Given the description of an element on the screen output the (x, y) to click on. 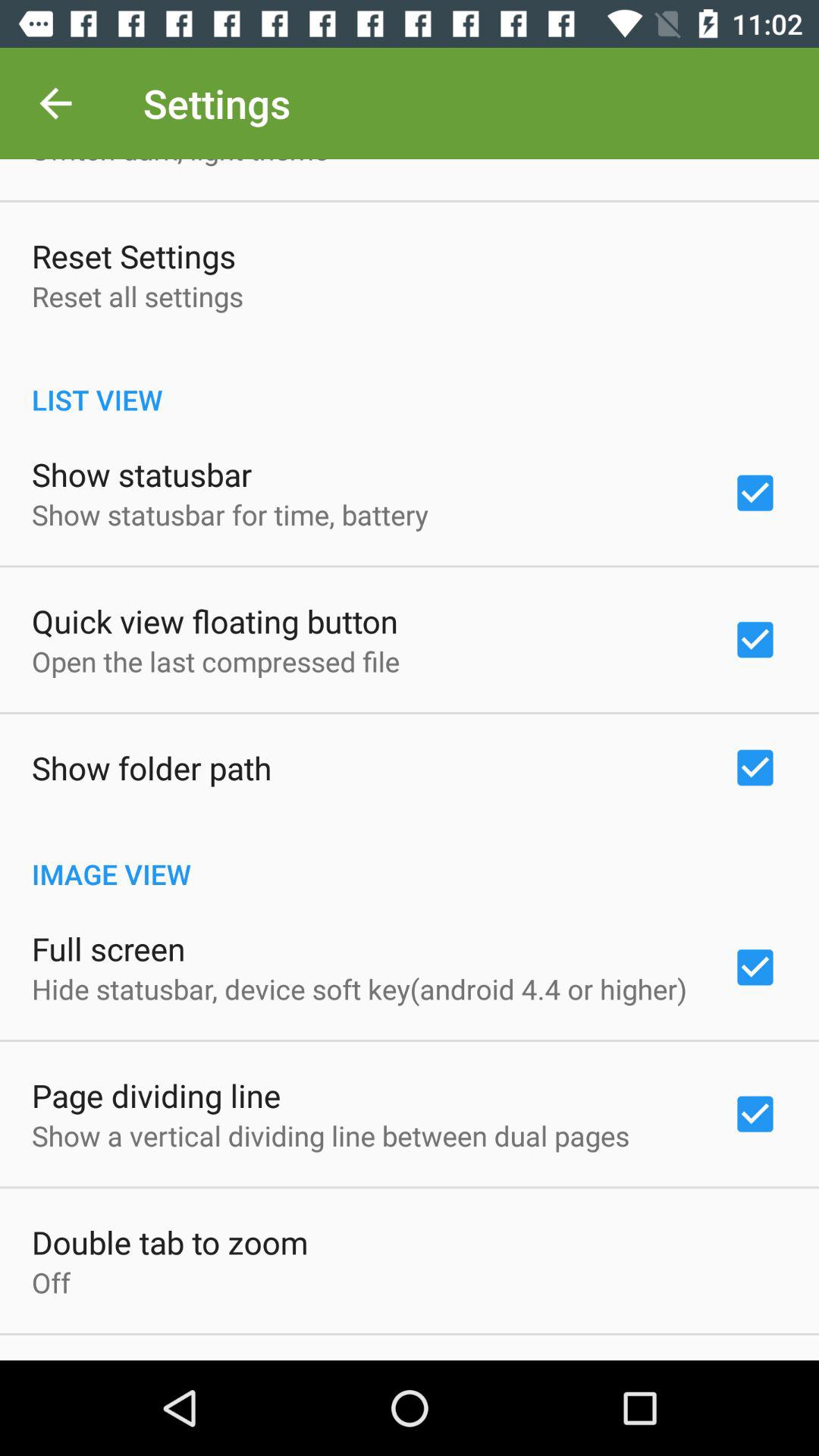
scroll until off (50, 1282)
